Given the description of an element on the screen output the (x, y) to click on. 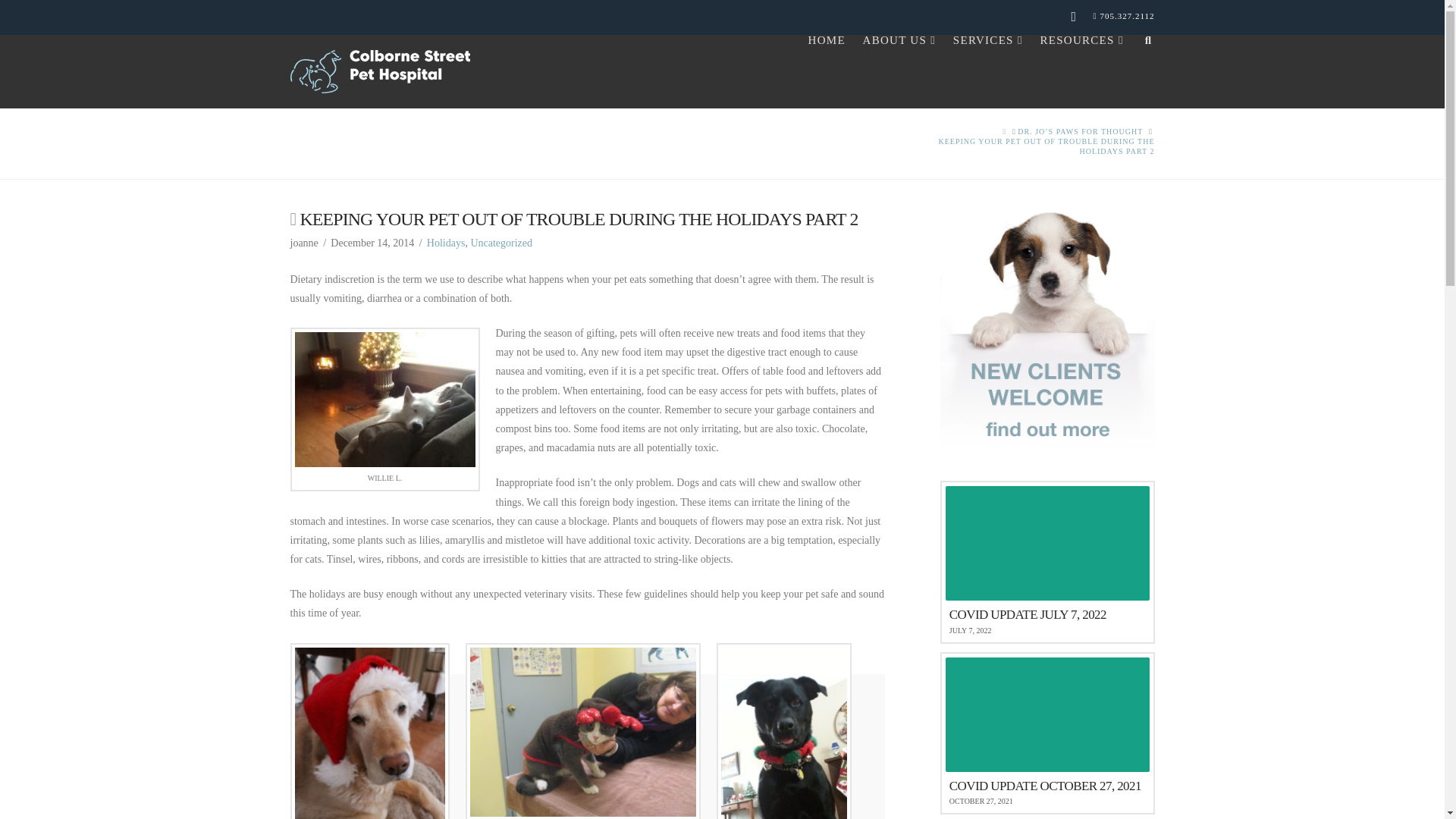
Facebook (1073, 16)
KEEPING YOUR PET OUT OF TROUBLE DURING THE HOLIDAYS PART 2 (1024, 146)
RESOURCES (1080, 69)
SERVICES (986, 69)
Permalink to: "COVID UPDATE July 7, 2022" (1047, 561)
Holidays (445, 242)
Uncategorized (501, 242)
ABOUT US (898, 69)
You Are Here (1024, 146)
Permalink to: "COVID UPDATE October 27, 2021" (1047, 732)
